Given the description of an element on the screen output the (x, y) to click on. 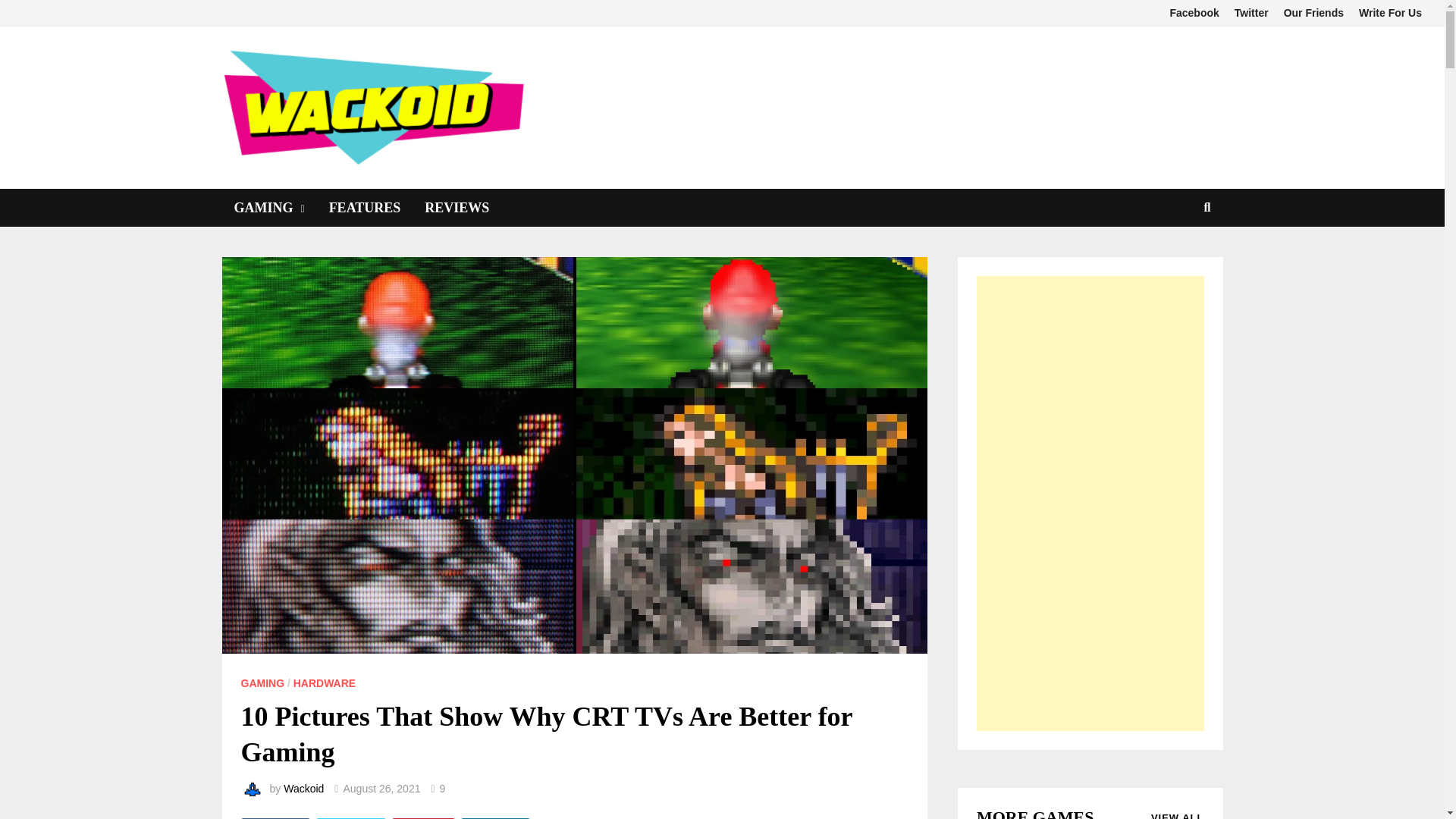
Write For Us (1390, 13)
SHARE (495, 818)
August 26, 2021 (381, 788)
Wackoid (303, 788)
Twitter (1251, 13)
PIN IT (422, 818)
FEATURES (365, 207)
SHARE (275, 818)
Our Friends (1313, 13)
Facebook (1193, 13)
